Given the description of an element on the screen output the (x, y) to click on. 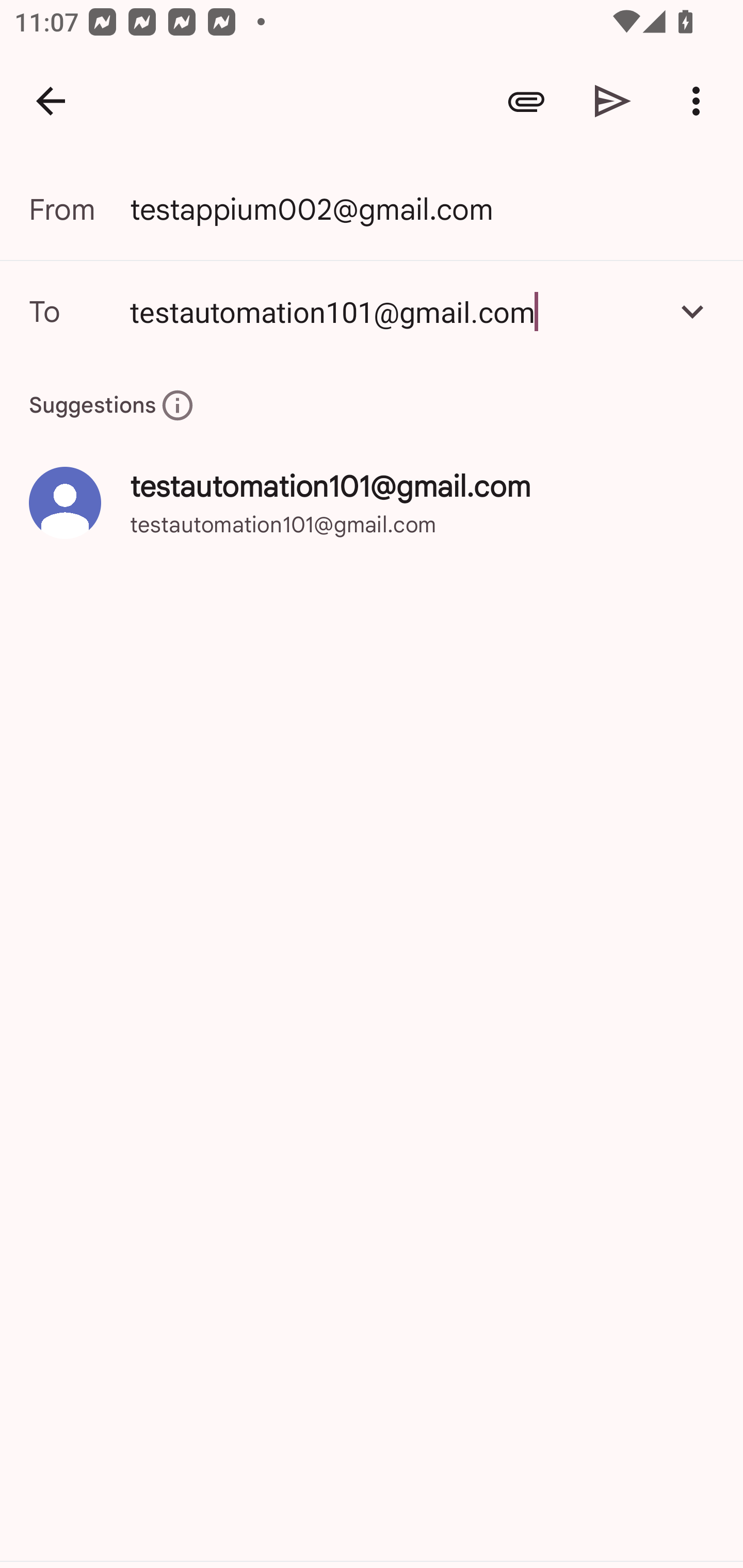
Navigate up (50, 101)
Attach file (525, 101)
Send (612, 101)
More options (699, 101)
From (79, 209)
Add Cc/Bcc (692, 311)
testautomation101@gmail.com (371, 311)
testautomation101@gmail.com (393, 311)
